Given the description of an element on the screen output the (x, y) to click on. 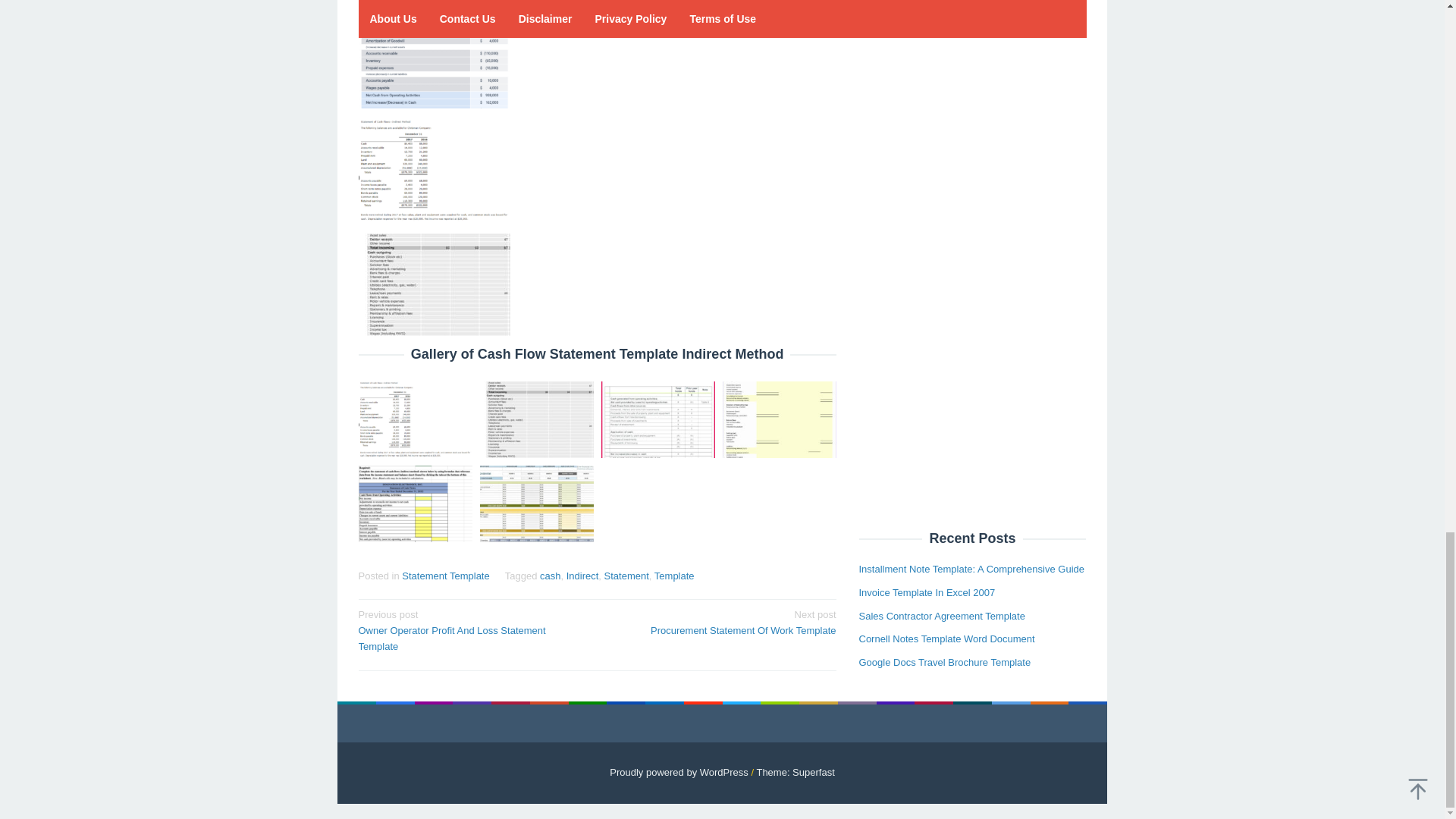
Cash Flow Statement Template Indirect Method 4 (433, 170)
Statement Template (445, 575)
cash (550, 575)
Template (673, 575)
Proudly powered by WordPress (679, 772)
Theme: Superfast (794, 772)
Cash Flow Statement Template Indirect Method 5 (433, 284)
Indirect (582, 575)
Statement (626, 575)
Cash Flow Statement Template Indirect Method 3 (433, 56)
